Given the description of an element on the screen output the (x, y) to click on. 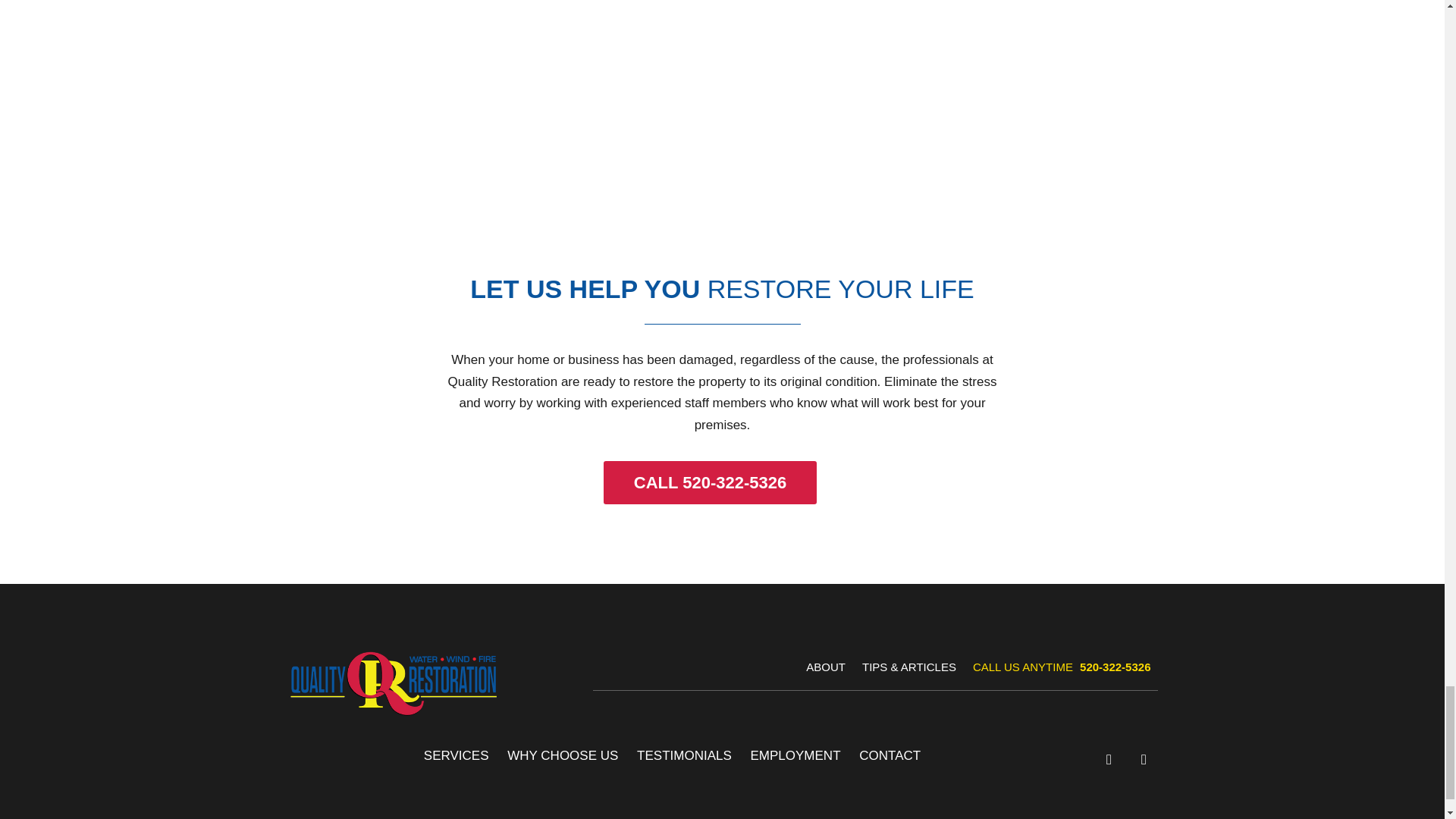
Follow on X (1143, 759)
Quality Restoration 24 Hour Emergency Services (722, 125)
logo (392, 682)
Follow on Facebook (1109, 759)
